Given the description of an element on the screen output the (x, y) to click on. 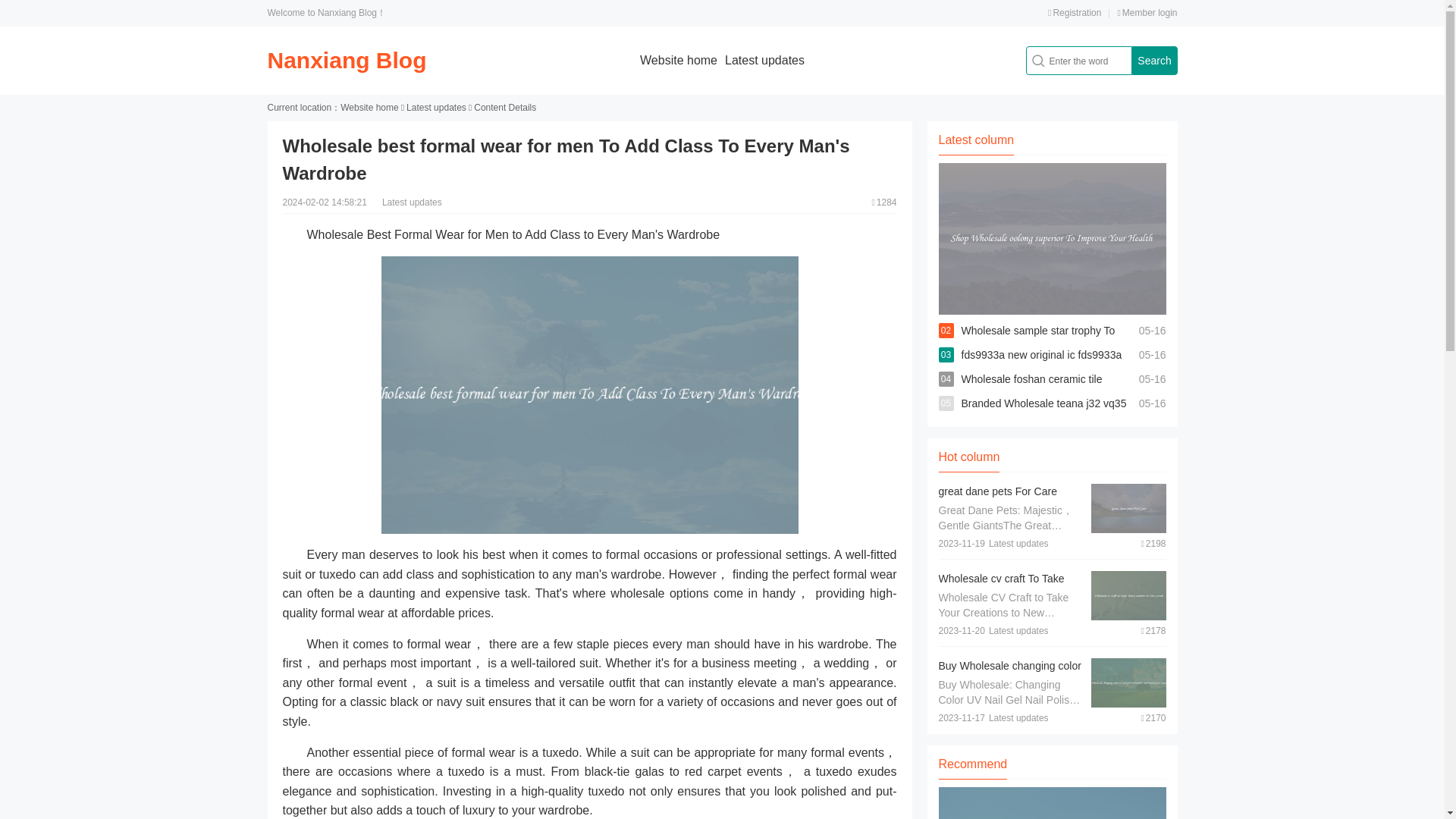
Registration (1074, 12)
great dane pets For Care (998, 491)
Website home (678, 60)
Search (1153, 60)
Latest updates (435, 107)
Wholesale cv craft To Take Your Creations To New Levels (1009, 585)
Nanxiang Blog (346, 59)
